Given the description of an element on the screen output the (x, y) to click on. 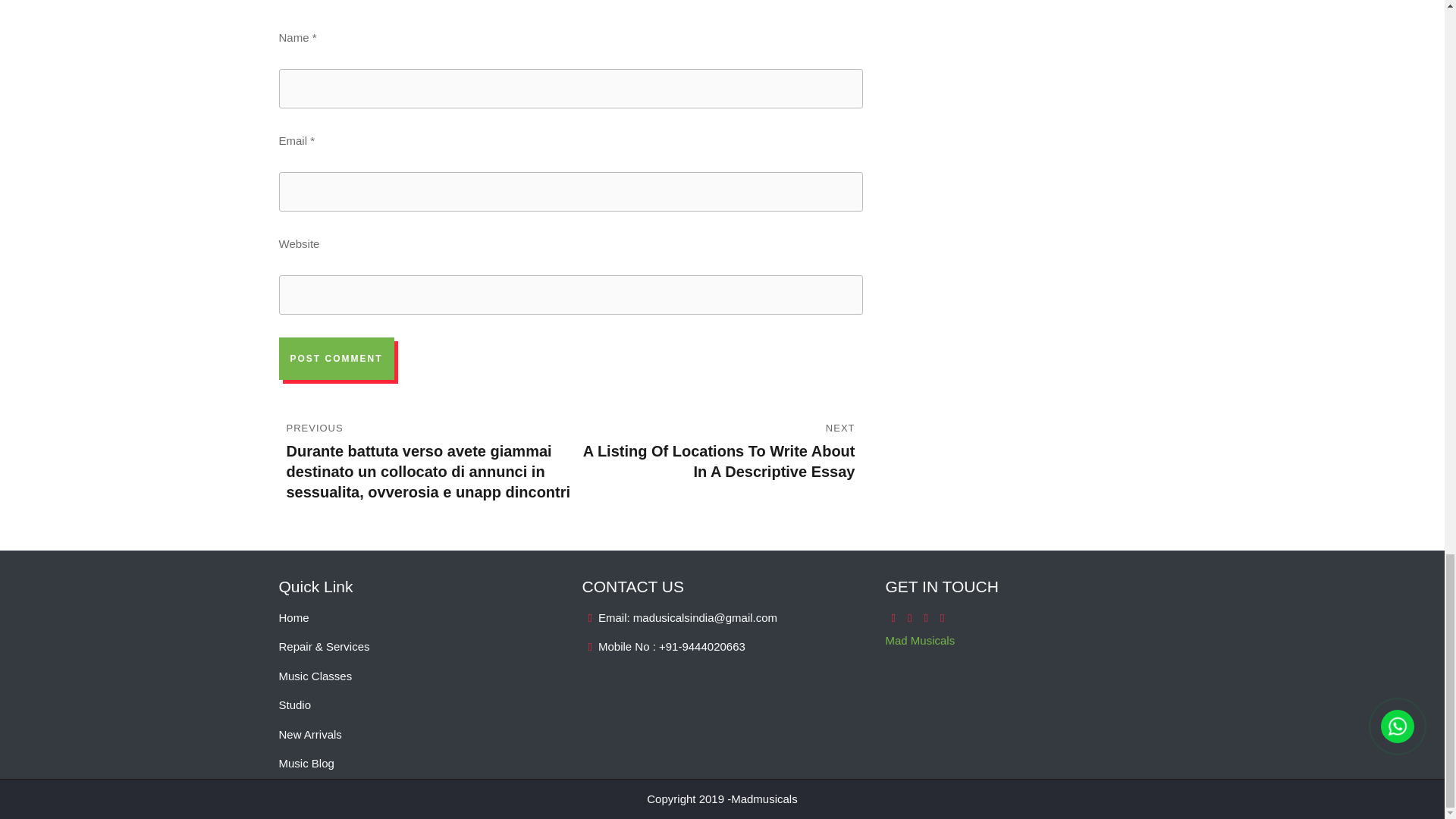
Post Comment (336, 358)
Post Comment (336, 358)
